Given the description of an element on the screen output the (x, y) to click on. 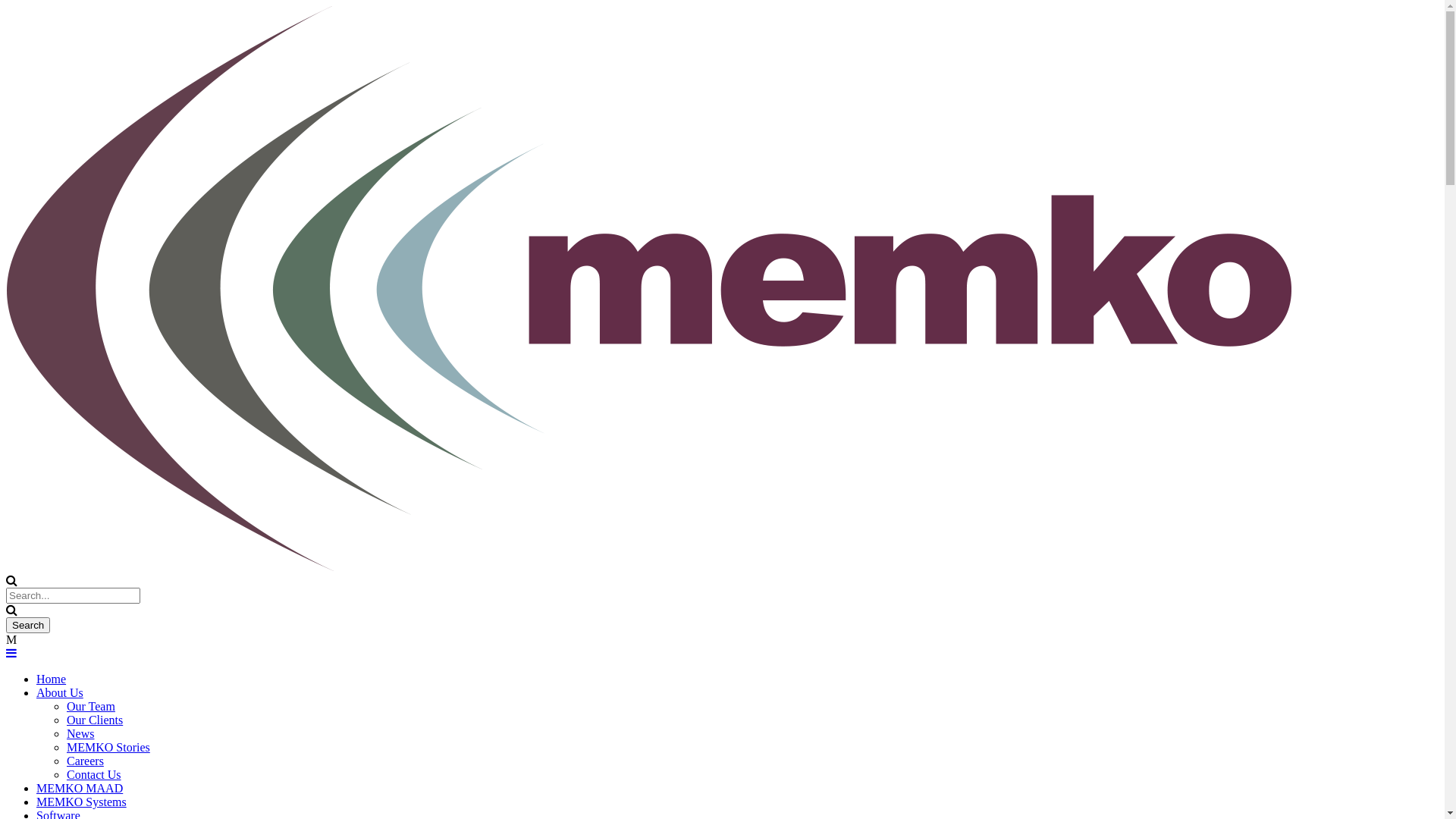
News Element type: text (80, 733)
MEMKO Stories Element type: text (108, 746)
Contact Us Element type: text (93, 774)
MEMKO logo Element type: hover (648, 288)
Home Element type: text (50, 678)
Careers Element type: text (84, 760)
MEMKO Systems Element type: text (81, 801)
MEMKO MAAD Element type: text (79, 787)
Search Element type: text (28, 625)
Our Clients Element type: text (94, 719)
Our Team Element type: text (90, 705)
About Us Element type: text (59, 692)
